Given the description of an element on the screen output the (x, y) to click on. 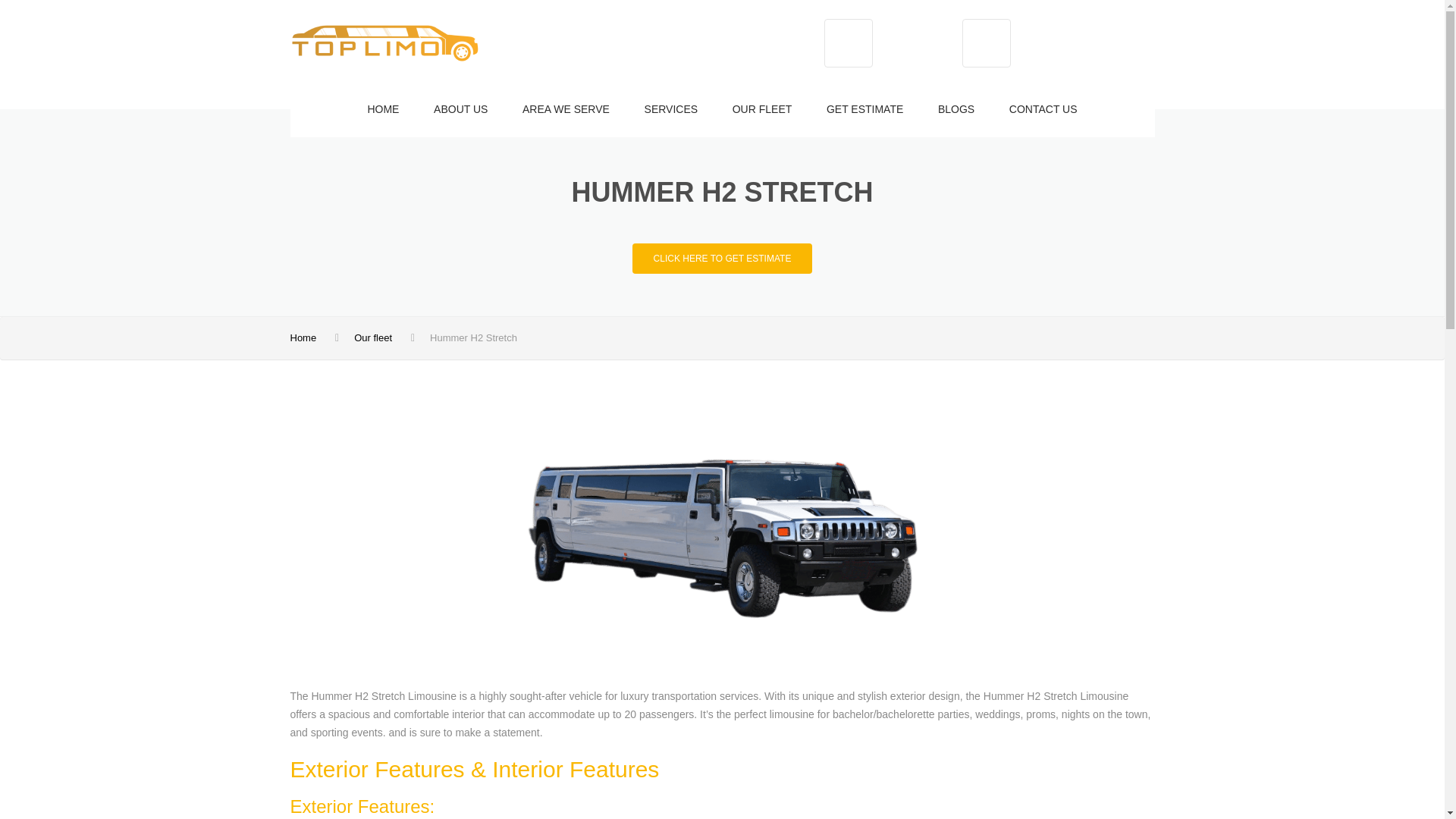
CONTACT US (1042, 109)
ABOUT US (460, 109)
BLOGS (955, 109)
SERVICES (671, 109)
HOME (382, 109)
Home (302, 337)
AREA WE SERVE (566, 109)
CLICK HERE TO GET ESTIMATE (721, 258)
OUR FLEET (762, 109)
Our fleet (372, 337)
